Given the description of an element on the screen output the (x, y) to click on. 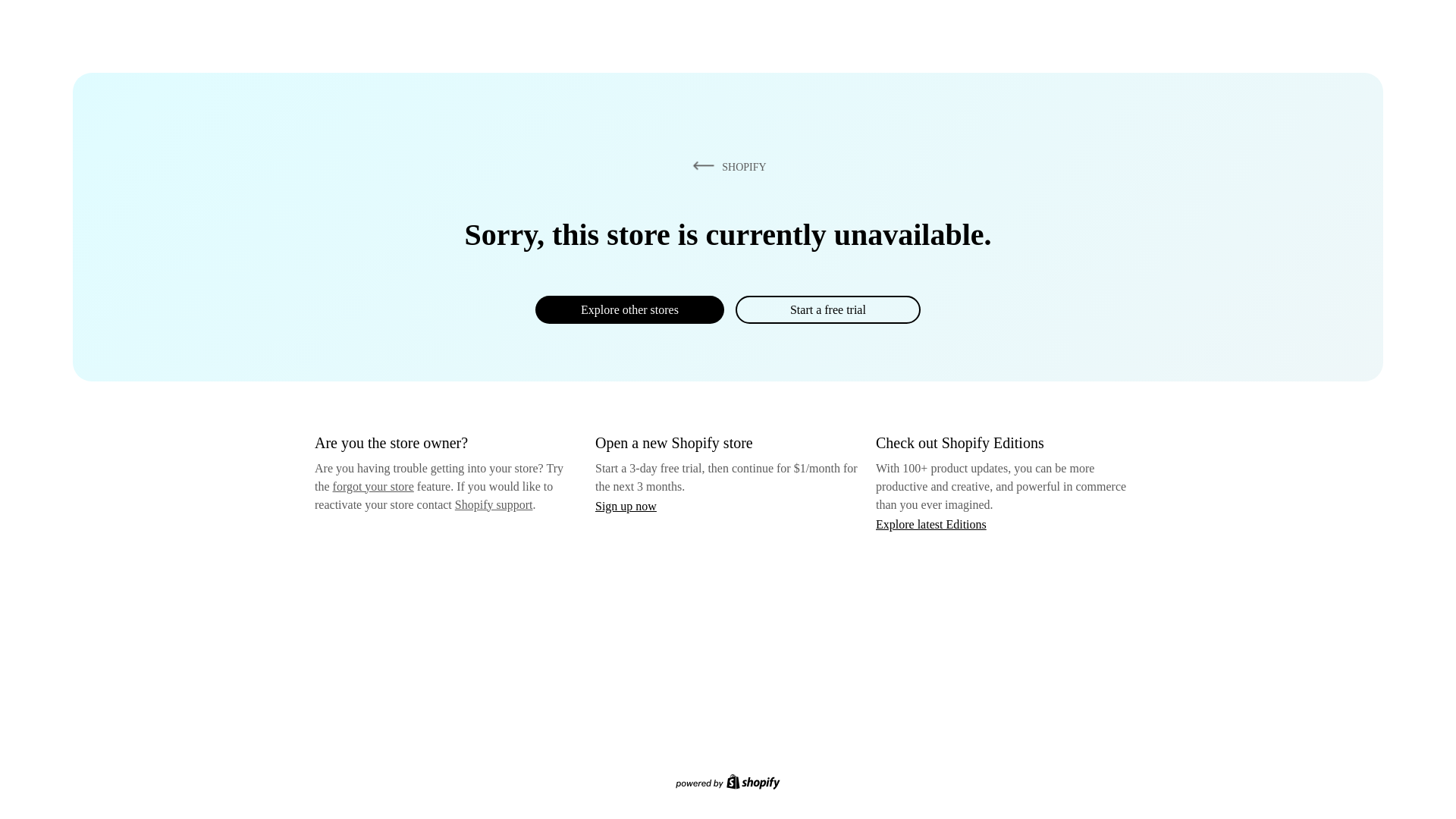
Shopify support (493, 504)
Start a free trial (827, 309)
Explore other stores (629, 309)
Explore latest Editions (931, 523)
Sign up now (625, 505)
forgot your store (373, 486)
SHOPIFY (726, 166)
